Given the description of an element on the screen output the (x, y) to click on. 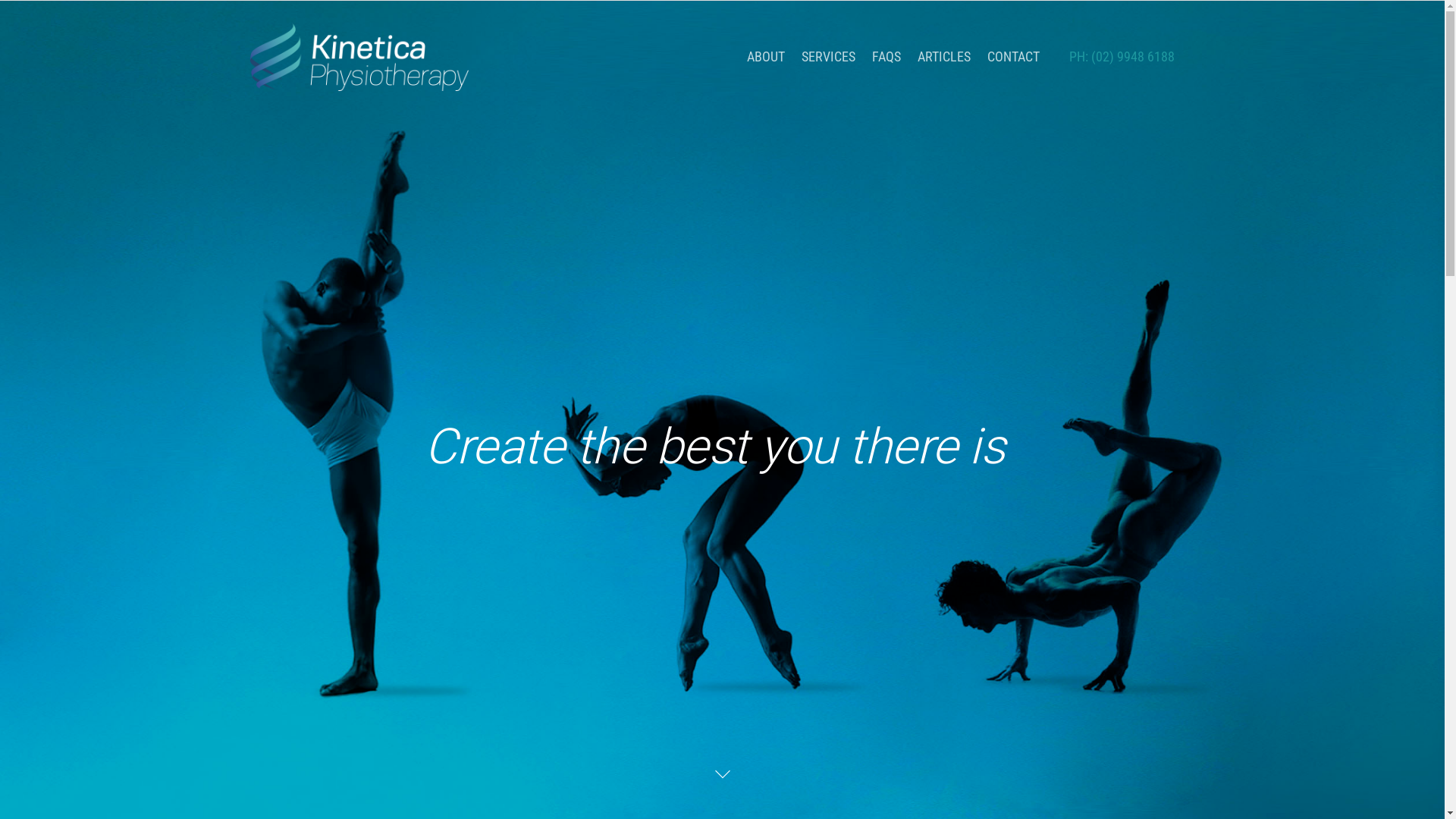
ABOUT Element type: text (765, 67)
ARTICLES Element type: text (944, 67)
SERVICES Element type: text (827, 67)
CONTACT PH: (02) 9948 6188 Element type: text (1080, 67)
FAQS Element type: text (886, 67)
